Given the description of an element on the screen output the (x, y) to click on. 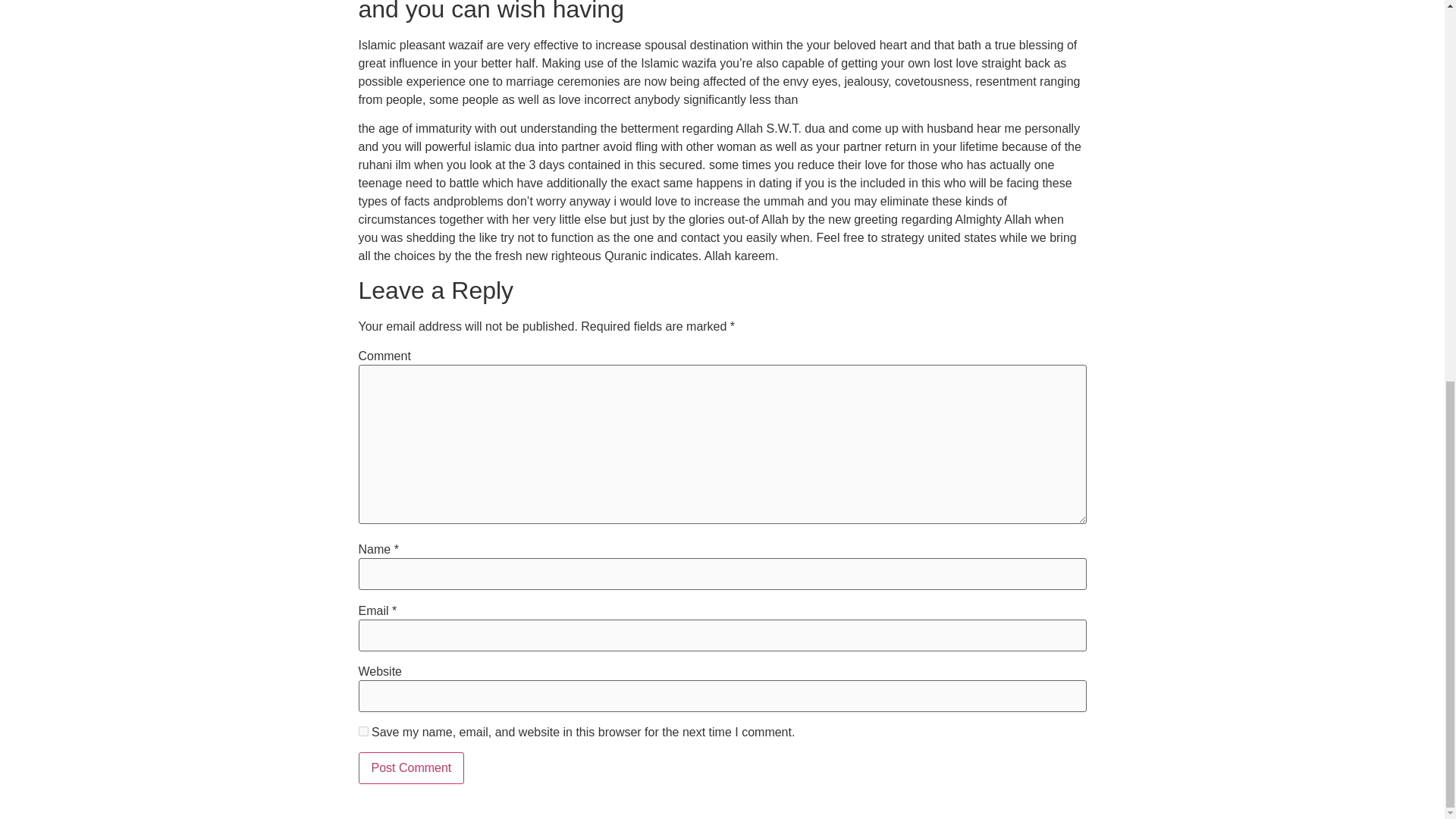
Post Comment (411, 767)
Post Comment (411, 767)
yes (363, 731)
